Given the description of an element on the screen output the (x, y) to click on. 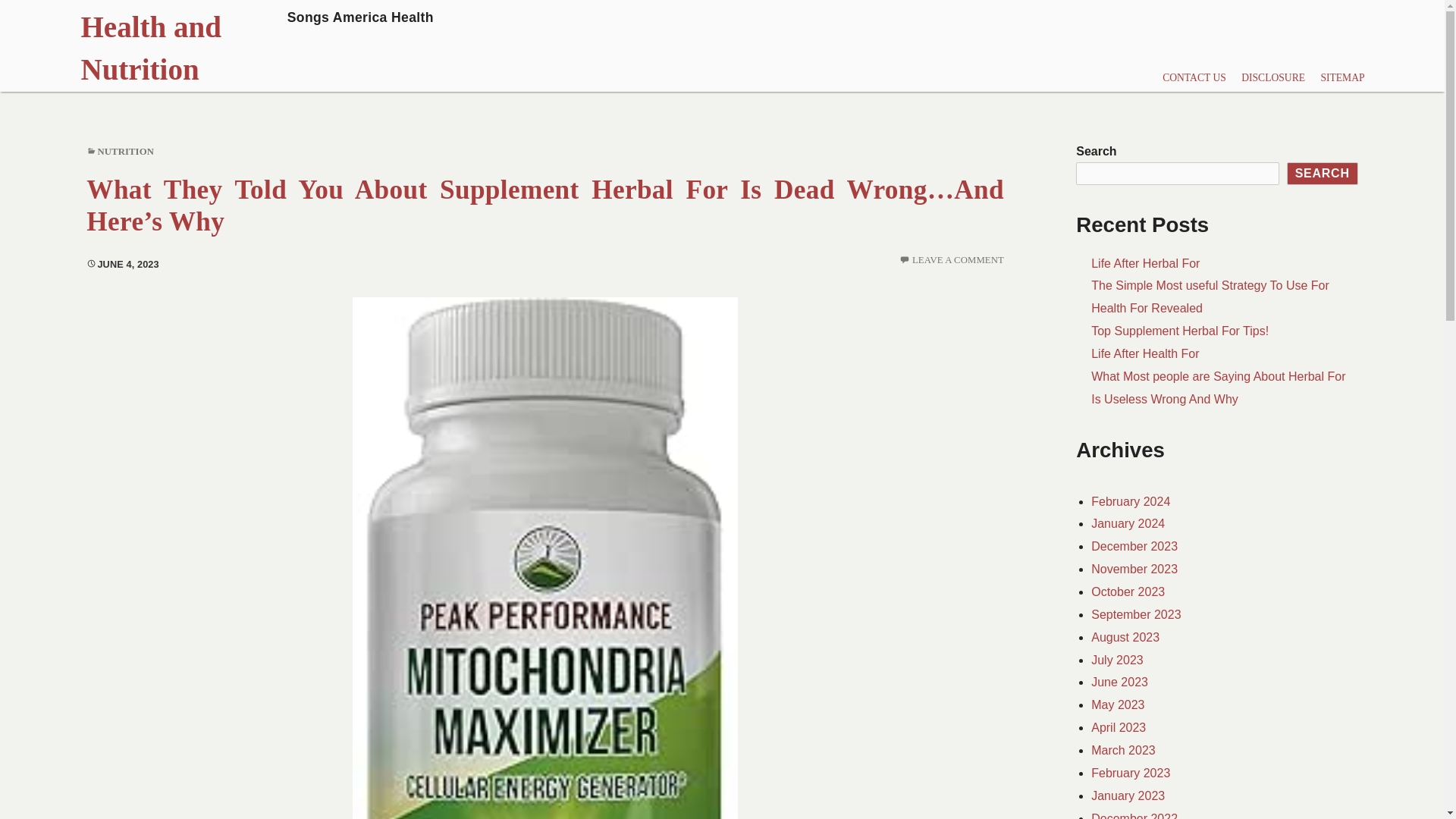
DISCLOSURE (1273, 78)
February 2023 (1130, 772)
Life After Herbal For (1144, 263)
December 2023 (1133, 545)
NUTRITION (125, 151)
SEARCH (1322, 173)
JUNE 4, 2023 (121, 264)
February 2024 (1130, 501)
April 2023 (1117, 727)
